Given the description of an element on the screen output the (x, y) to click on. 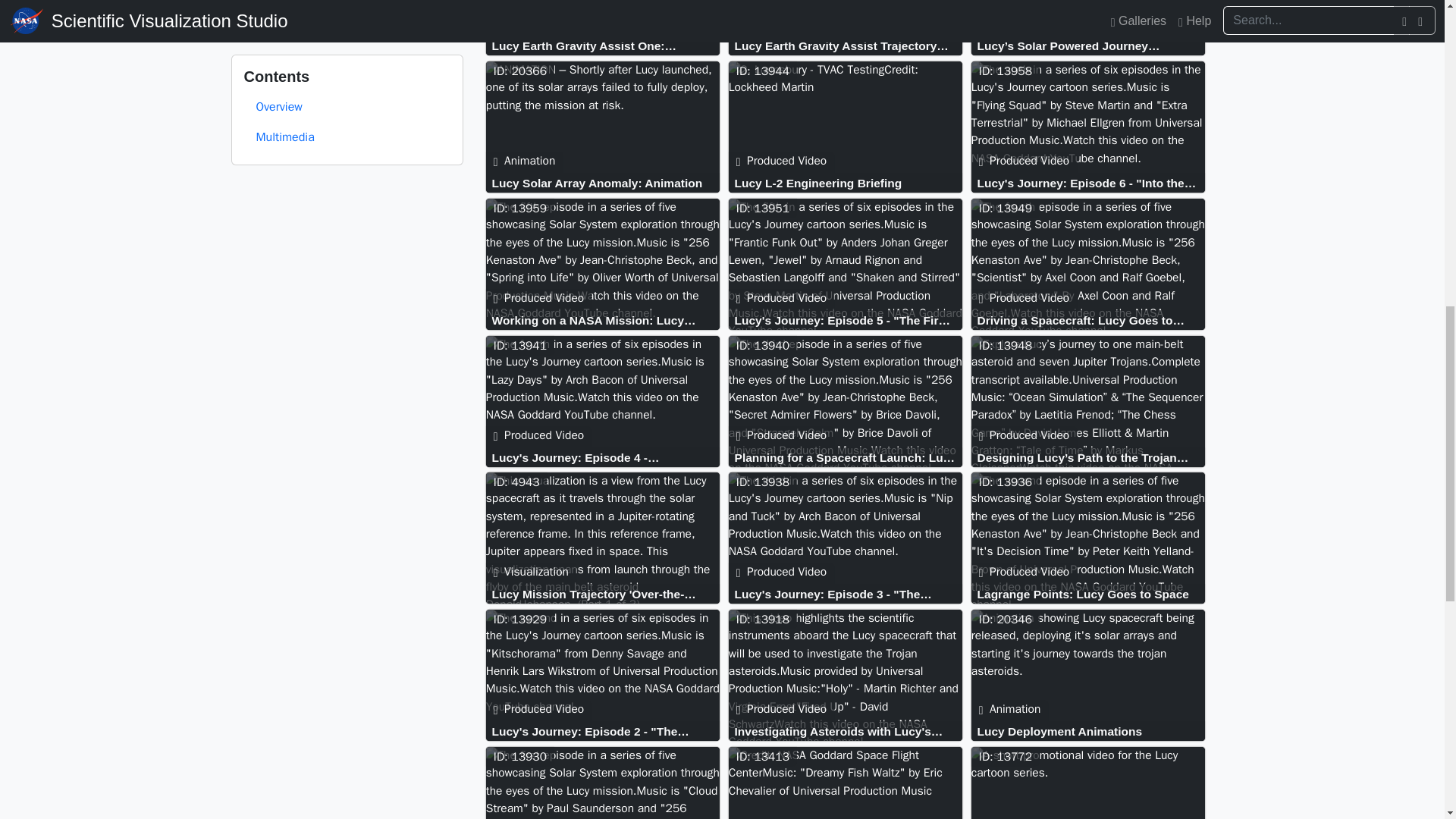
Go to this page (605, 29)
Lucy Earth Gravity Assist One: Animations (606, 45)
Lucy's Journey: Episode 6 - "Into the Unknown" (1090, 183)
Working on a NASA Mission: Lucy Goes to Space (606, 319)
Lucy L-2 Engineering Briefing (847, 183)
Lucy Solar Array Anomaly: Animation (606, 183)
Go to this page (606, 45)
Lucy Earth Gravity Assist Trajectory Visualizations (847, 45)
